Given the description of an element on the screen output the (x, y) to click on. 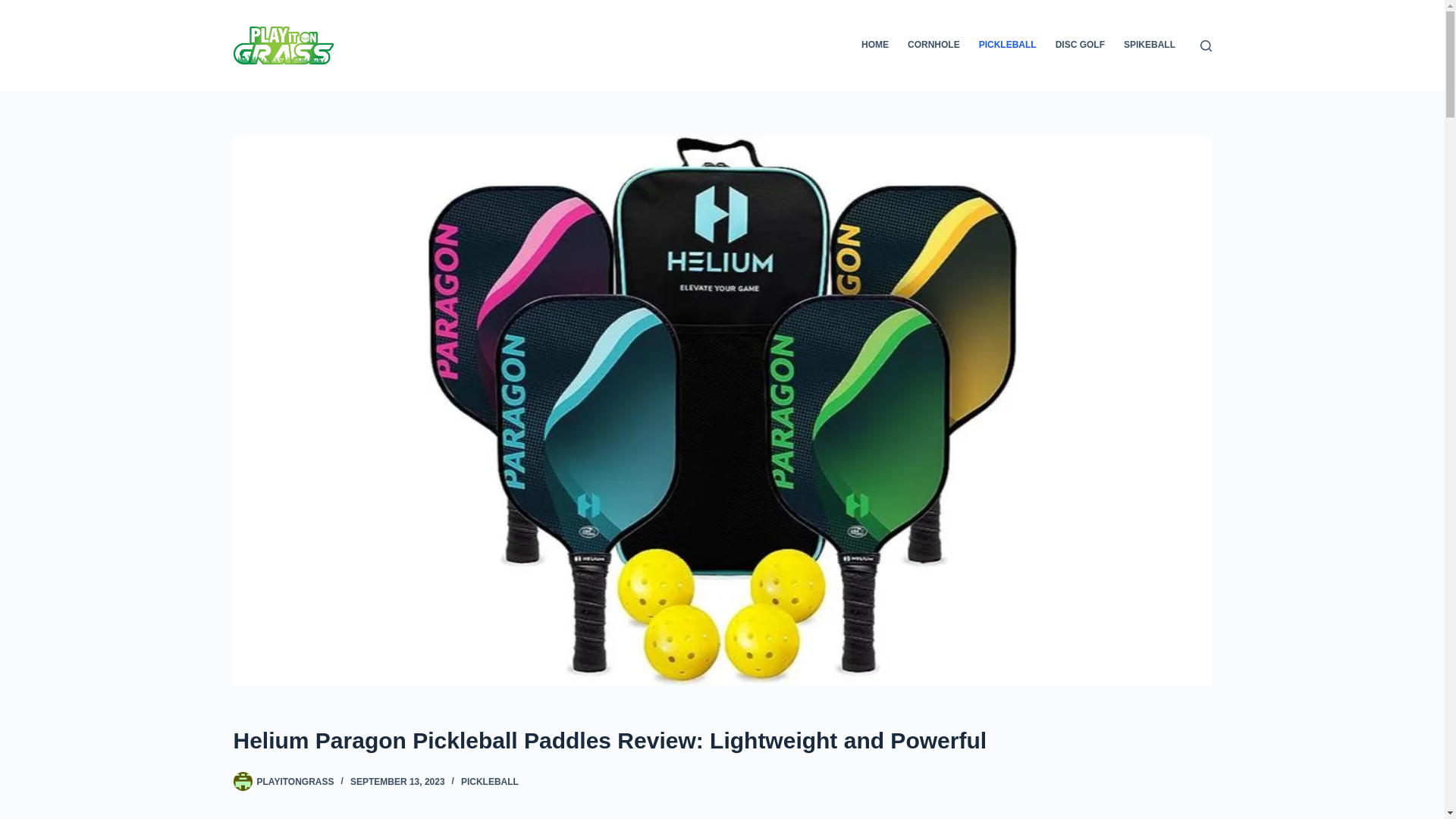
Posts by Playitongrass (294, 781)
Skip to content (15, 7)
PICKLEBALL (489, 781)
PLAYITONGRASS (294, 781)
